Given the description of an element on the screen output the (x, y) to click on. 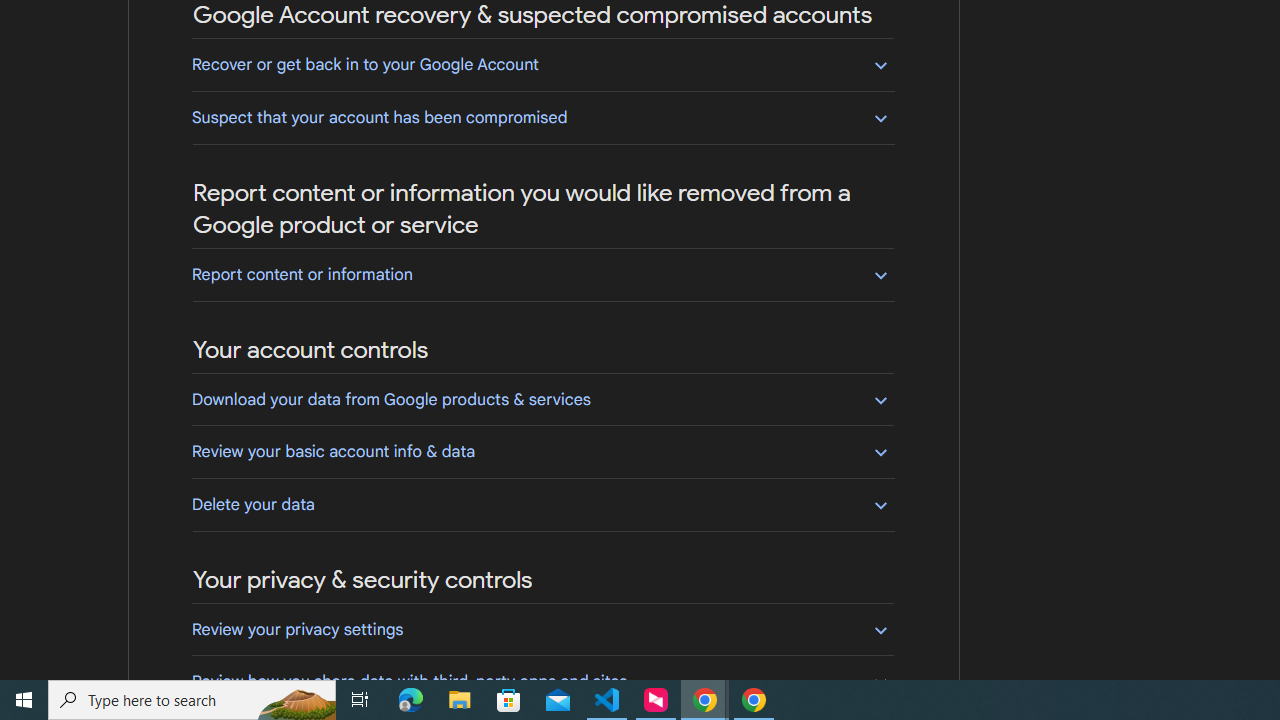
Review your basic account info & data (542, 451)
Recover or get back in to your Google Account (542, 64)
Review your privacy settings (542, 629)
Delete your data (542, 504)
Download your data from Google products & services (542, 399)
Report content or information (542, 273)
Review how you share data with third-party apps and sites (542, 681)
Suspect that your account has been compromised (542, 117)
